Given the description of an element on the screen output the (x, y) to click on. 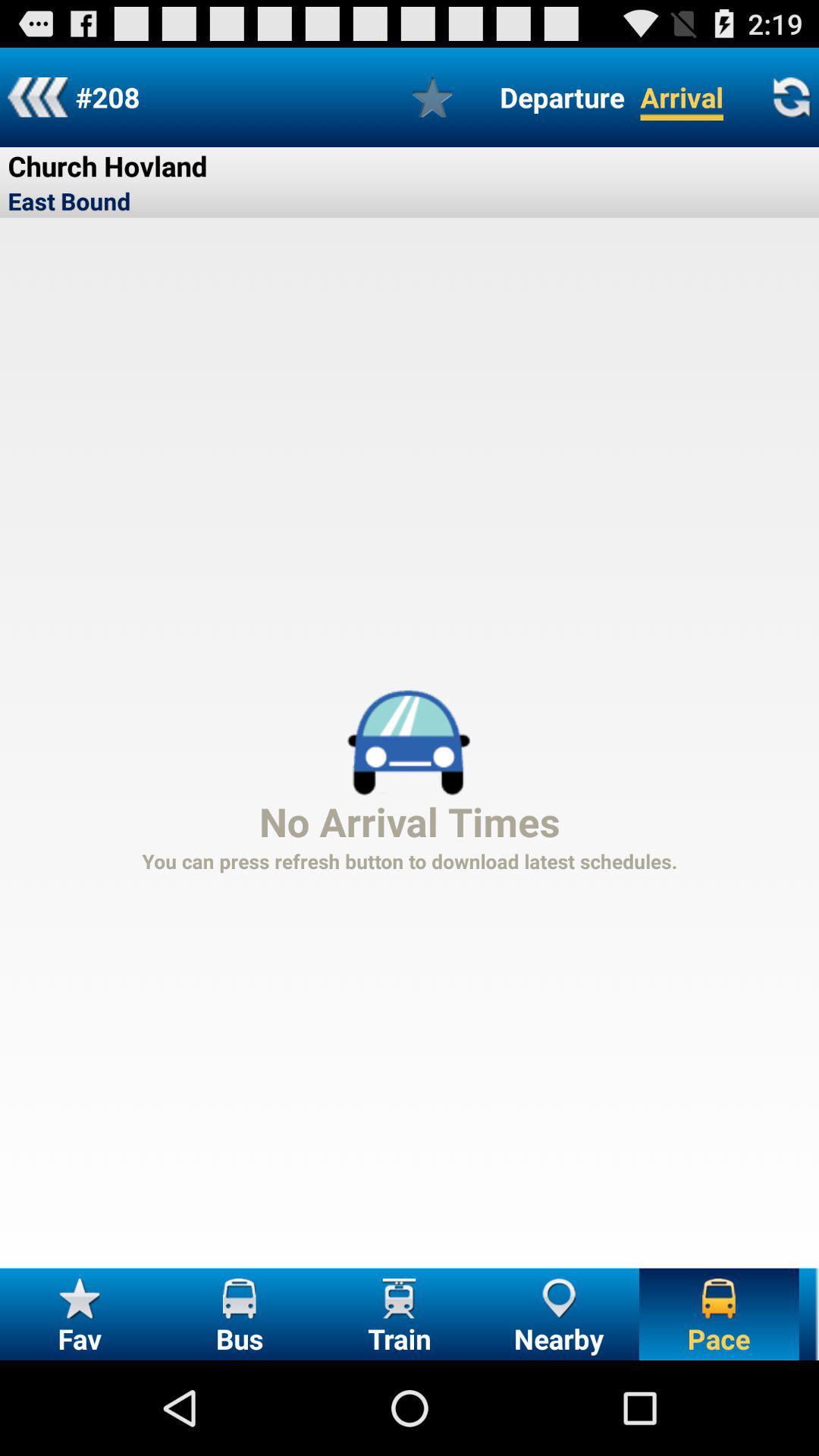
add to bookmark (432, 97)
